Given the description of an element on the screen output the (x, y) to click on. 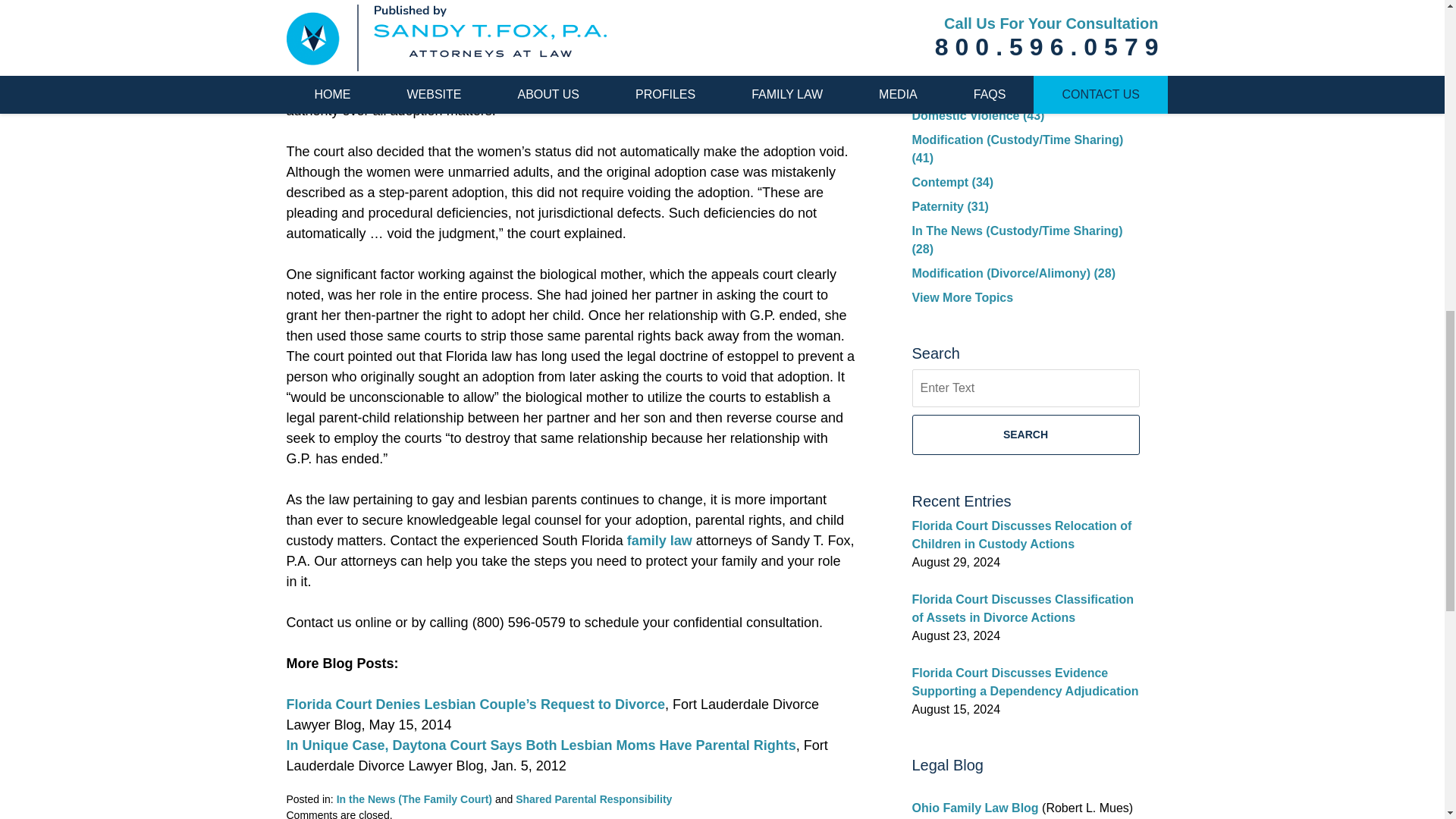
View all posts in Shared Parental Responsibility (593, 799)
family law (660, 540)
Shared Parental Responsibility (593, 799)
